Given the description of an element on the screen output the (x, y) to click on. 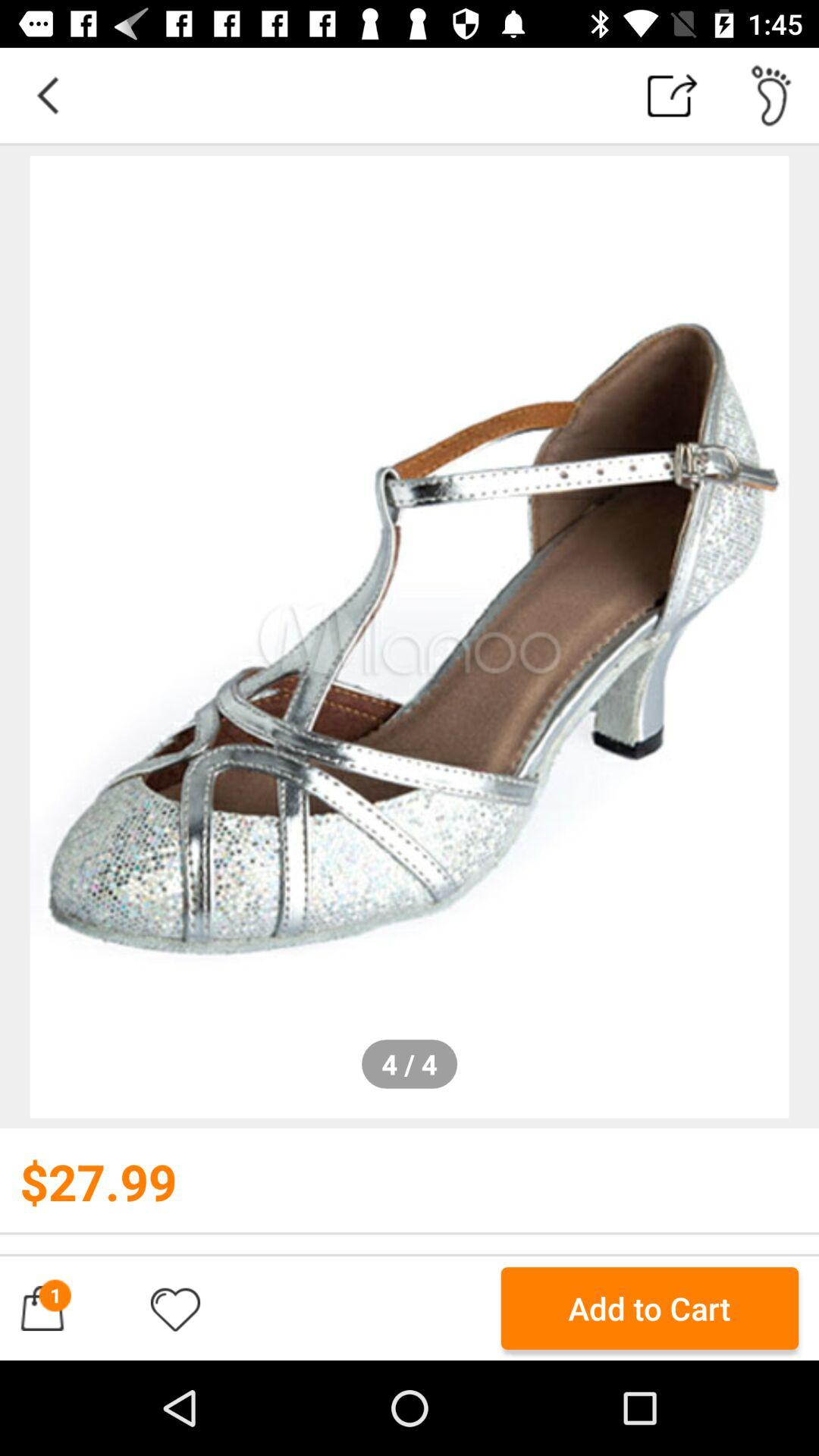
go back (47, 95)
